Given the description of an element on the screen output the (x, y) to click on. 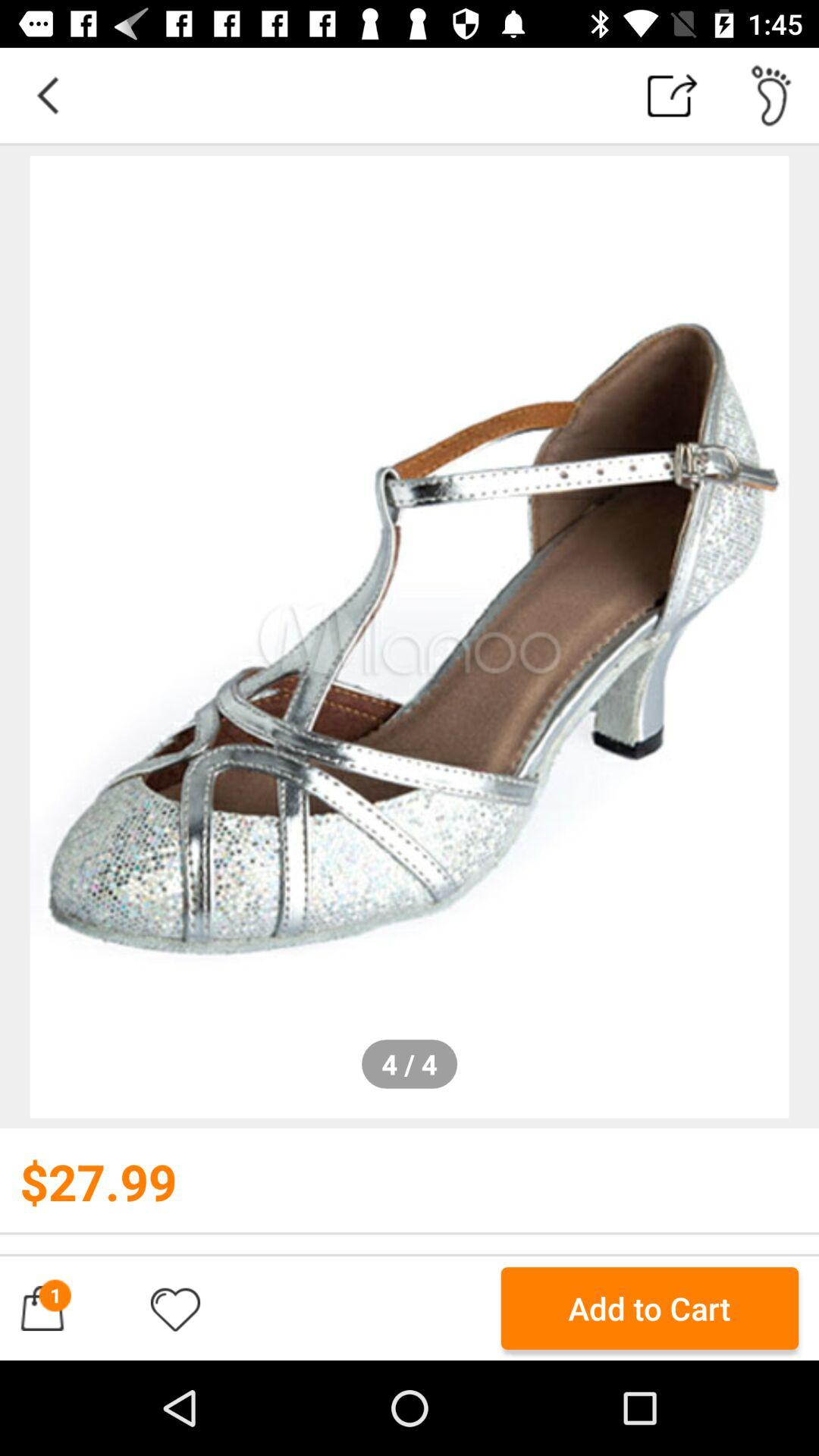
go back (47, 95)
